Given the description of an element on the screen output the (x, y) to click on. 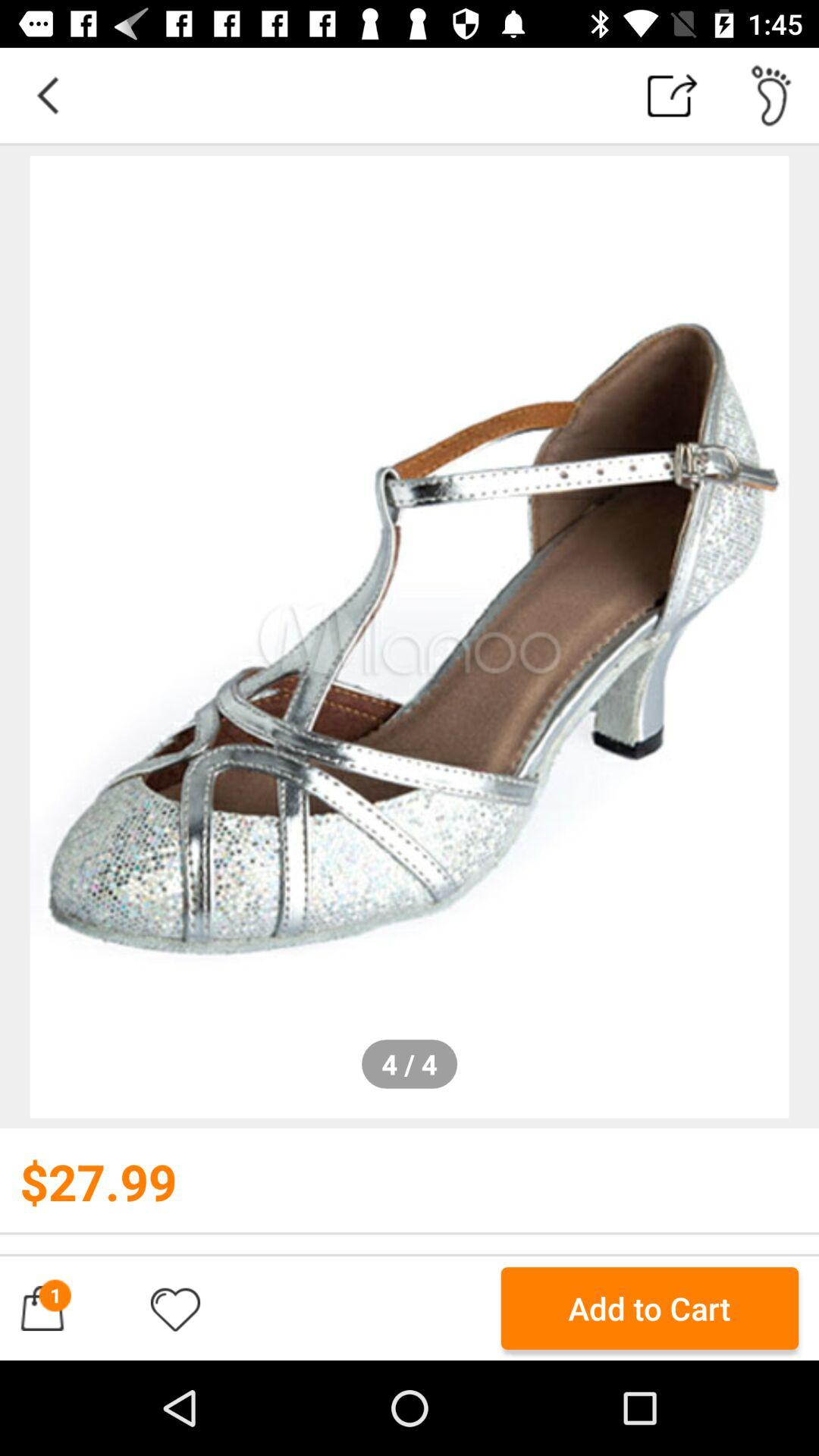
go back (47, 95)
